Given the description of an element on the screen output the (x, y) to click on. 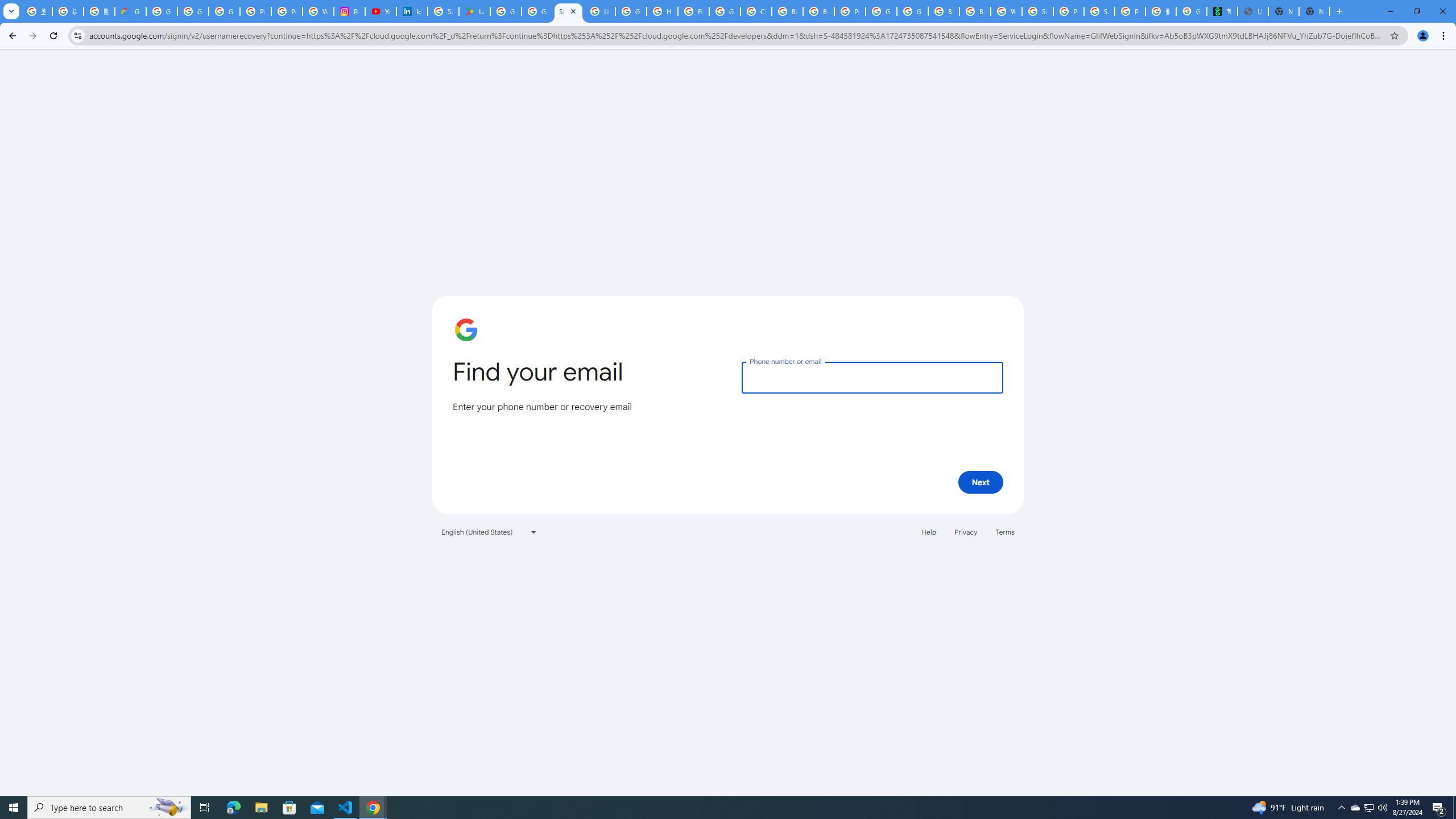
Identity verification via Persona | LinkedIn Help (411, 11)
